Given the description of an element on the screen output the (x, y) to click on. 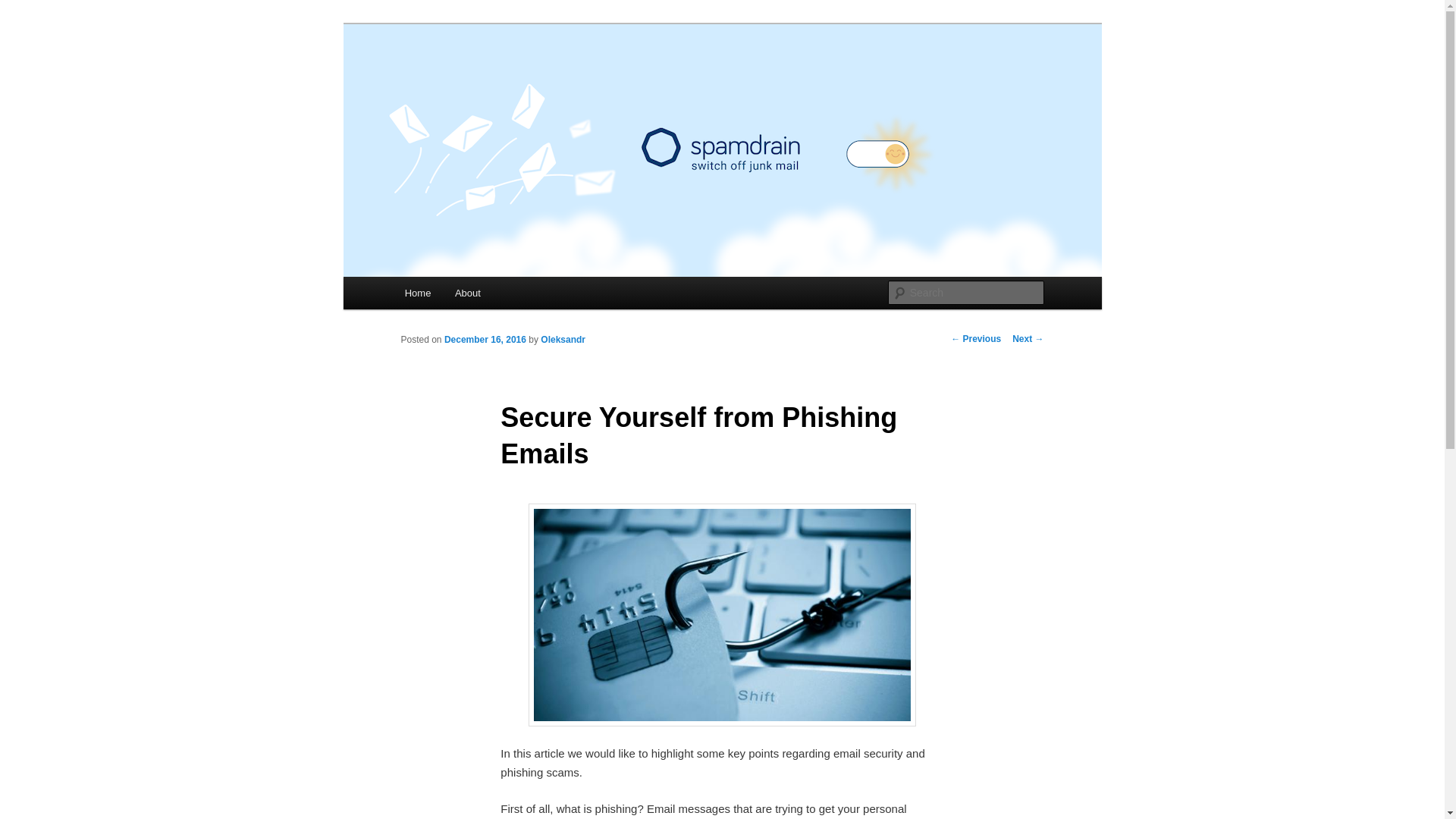
December 16, 2016 (484, 339)
Search (24, 8)
About (467, 292)
View all posts by Oleksandr (562, 339)
Spamdrain blog (486, 78)
3:36 pm (484, 339)
Home (417, 292)
Oleksandr (562, 339)
